Given the description of an element on the screen output the (x, y) to click on. 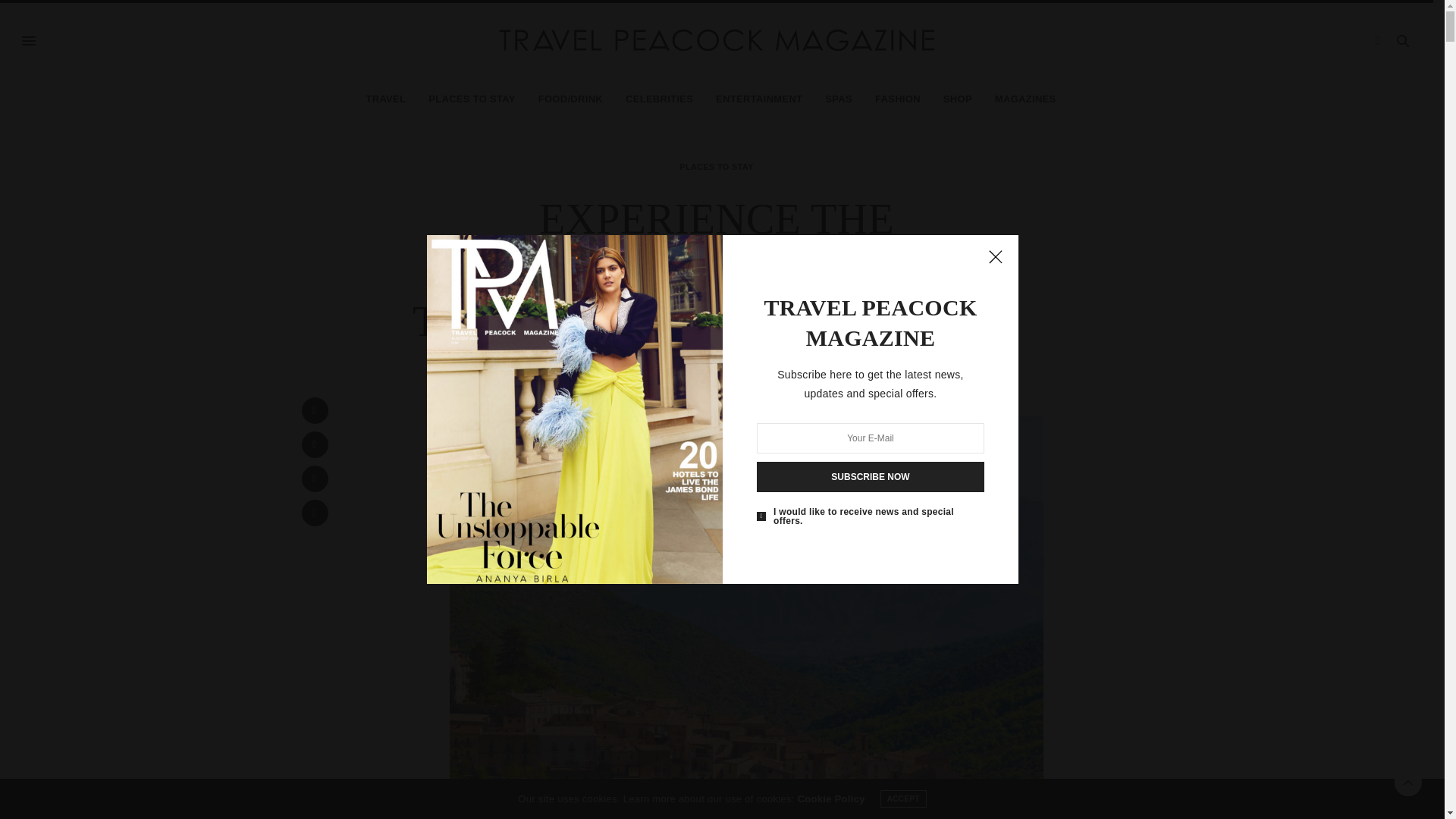
TRAVEL (385, 98)
TPM TEAM (722, 368)
TPM (716, 40)
Posts by TPM TEAM (722, 368)
PLACES TO STAY (715, 166)
ENTERTAINMENT (759, 98)
MAGAZINES (1025, 98)
SUBSCRIBE NOW (870, 476)
PLACES TO STAY (471, 98)
FASHION (897, 98)
